Given the description of an element on the screen output the (x, y) to click on. 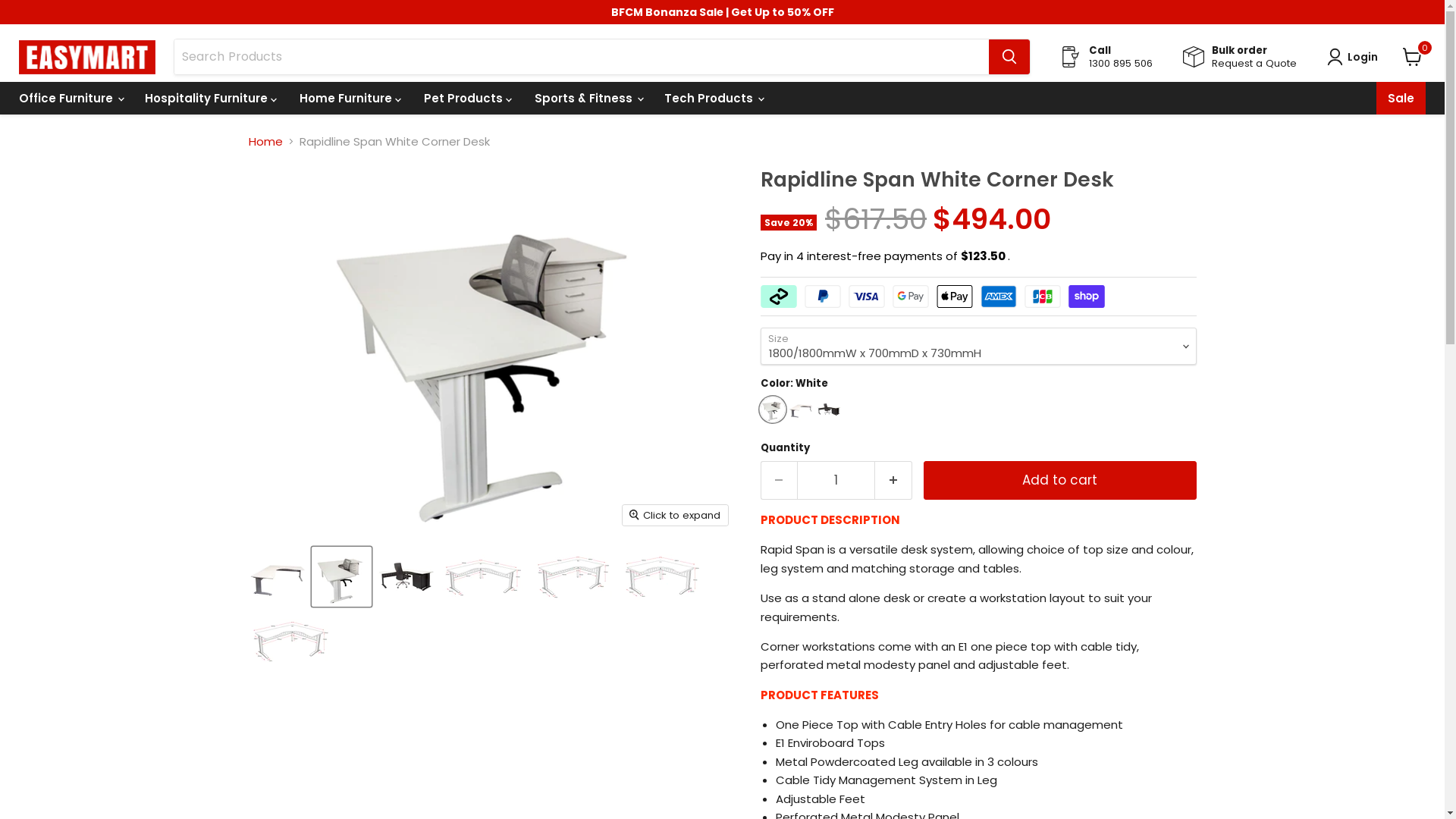
Sale Element type: text (1400, 97)
Click to expand Element type: text (675, 515)
Add to cart Element type: text (1059, 480)
View cart Element type: text (1412, 56)
Bulk order
Request a Quote Element type: text (1255, 56)
Home Element type: text (265, 140)
1300 895 506 Element type: text (1120, 63)
Login Element type: text (1355, 56)
